Given the description of an element on the screen output the (x, y) to click on. 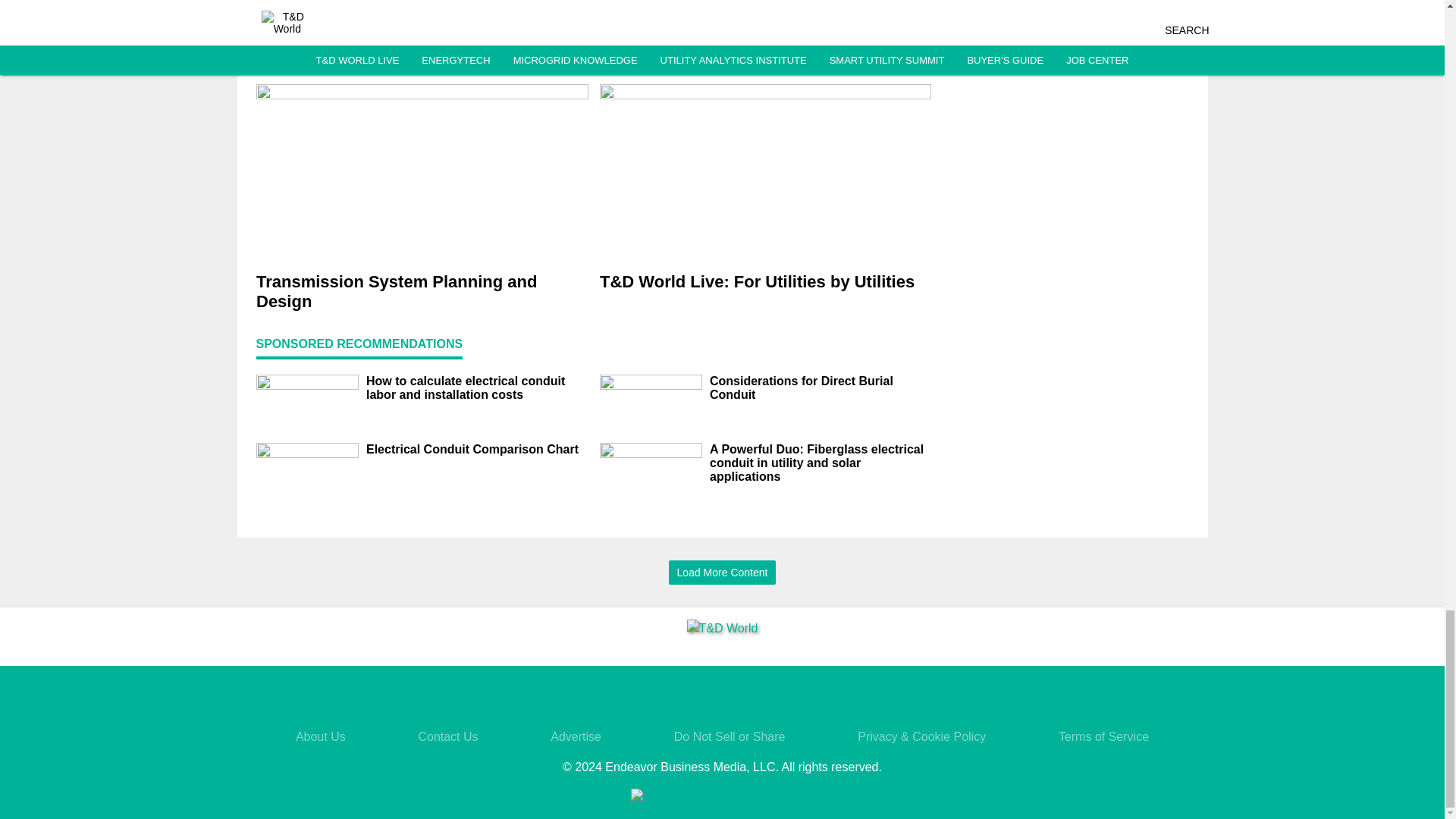
Considerations for Direct Burial Conduit (820, 388)
Electrical Conduit Comparison Chart (476, 449)
Transmission System Planning and Design (422, 291)
